Given the description of an element on the screen output the (x, y) to click on. 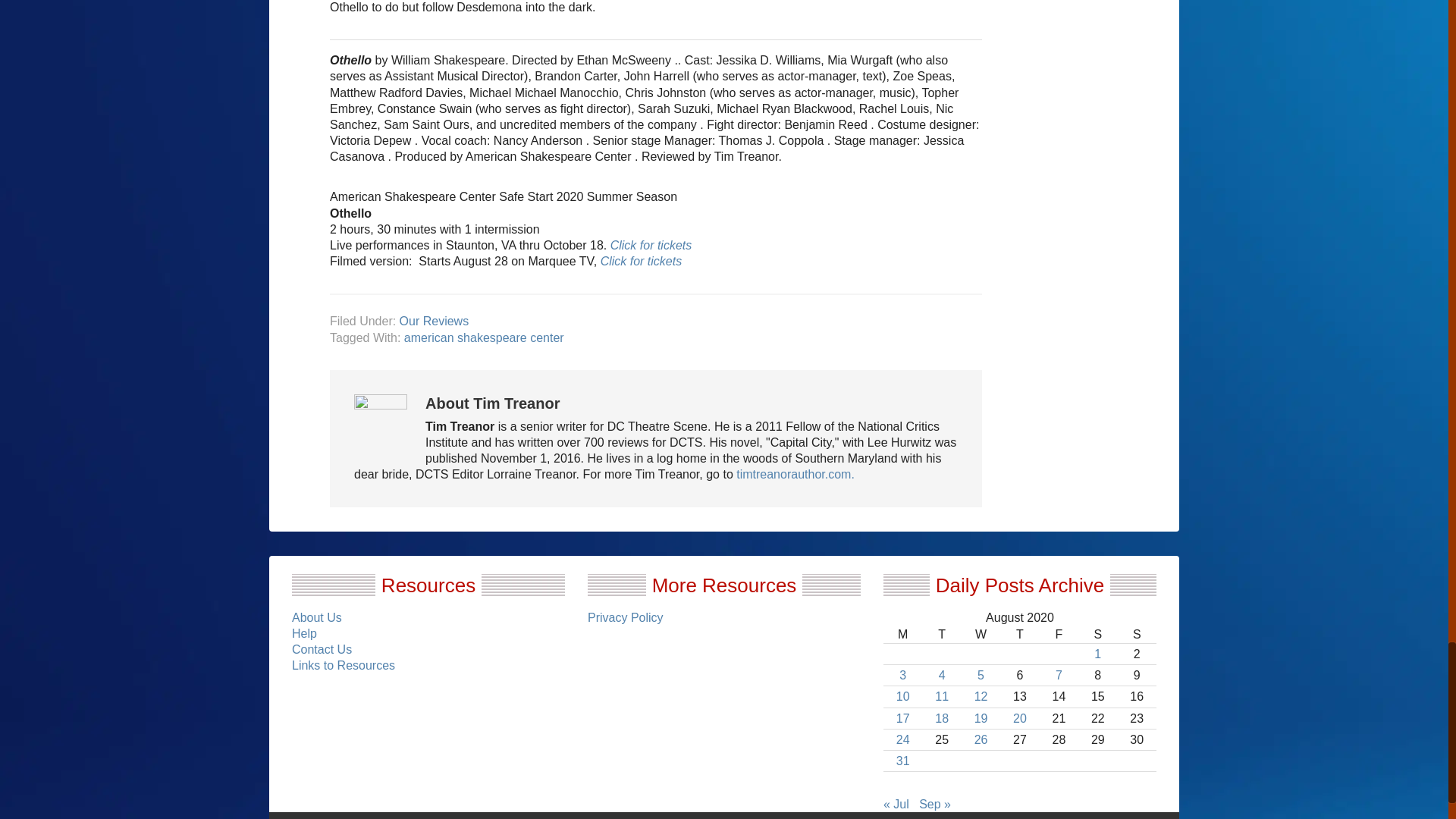
Friday (1058, 634)
Our Reviews (433, 320)
Saturday (1097, 634)
american shakespeare center (484, 337)
Thursday (1019, 634)
Monday (902, 634)
Click for tickets (638, 260)
timtreanorauthor.com. (795, 473)
Tuesday (940, 634)
About Us (317, 617)
